Given the description of an element on the screen output the (x, y) to click on. 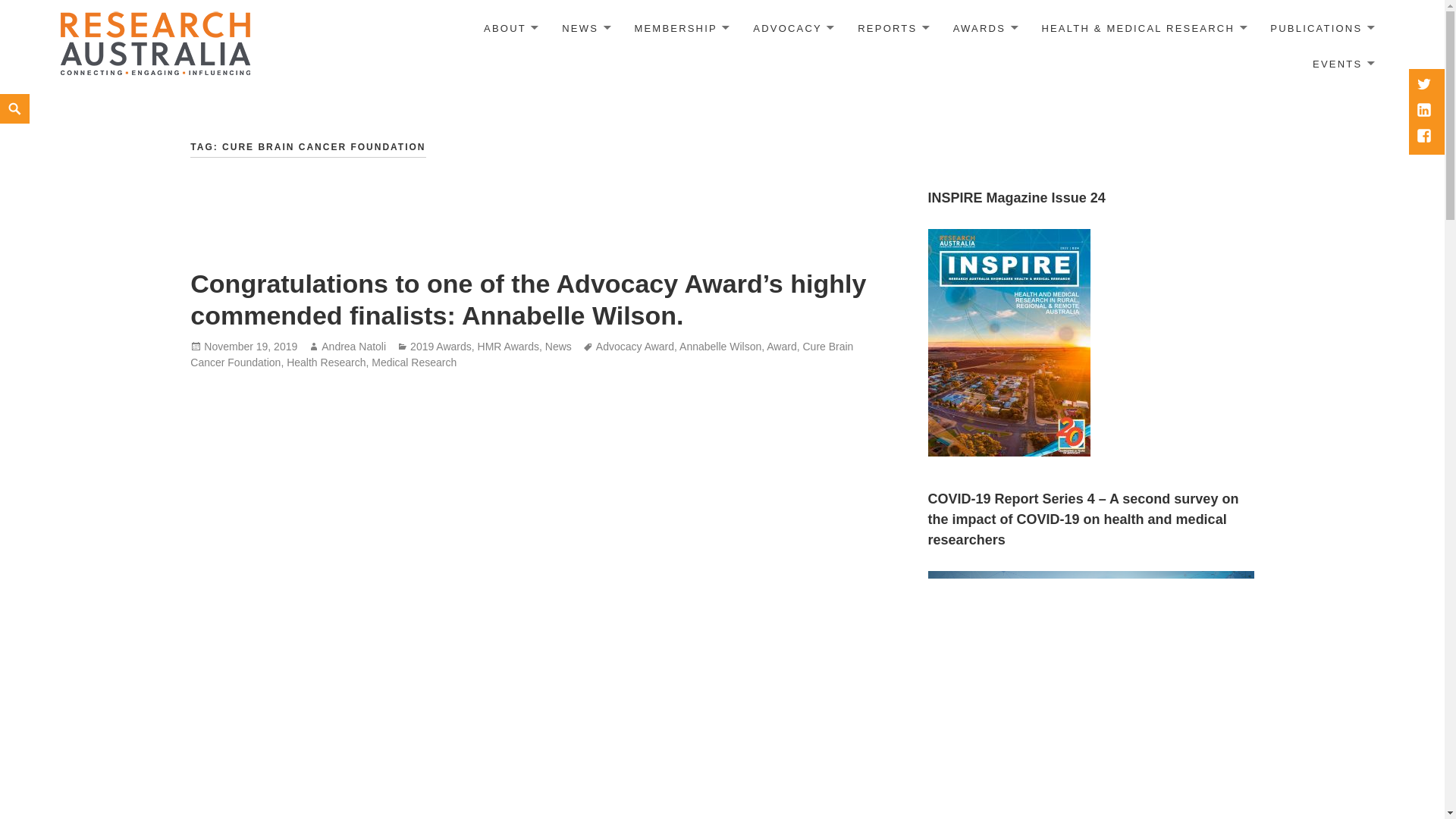
ABOUT (509, 28)
RESEARCH AUSTRALIA (155, 41)
NEWS (585, 28)
ADVOCACY (792, 28)
MEMBERSHIP (680, 28)
REPORTS (892, 28)
AWARDS (984, 28)
